Given the description of an element on the screen output the (x, y) to click on. 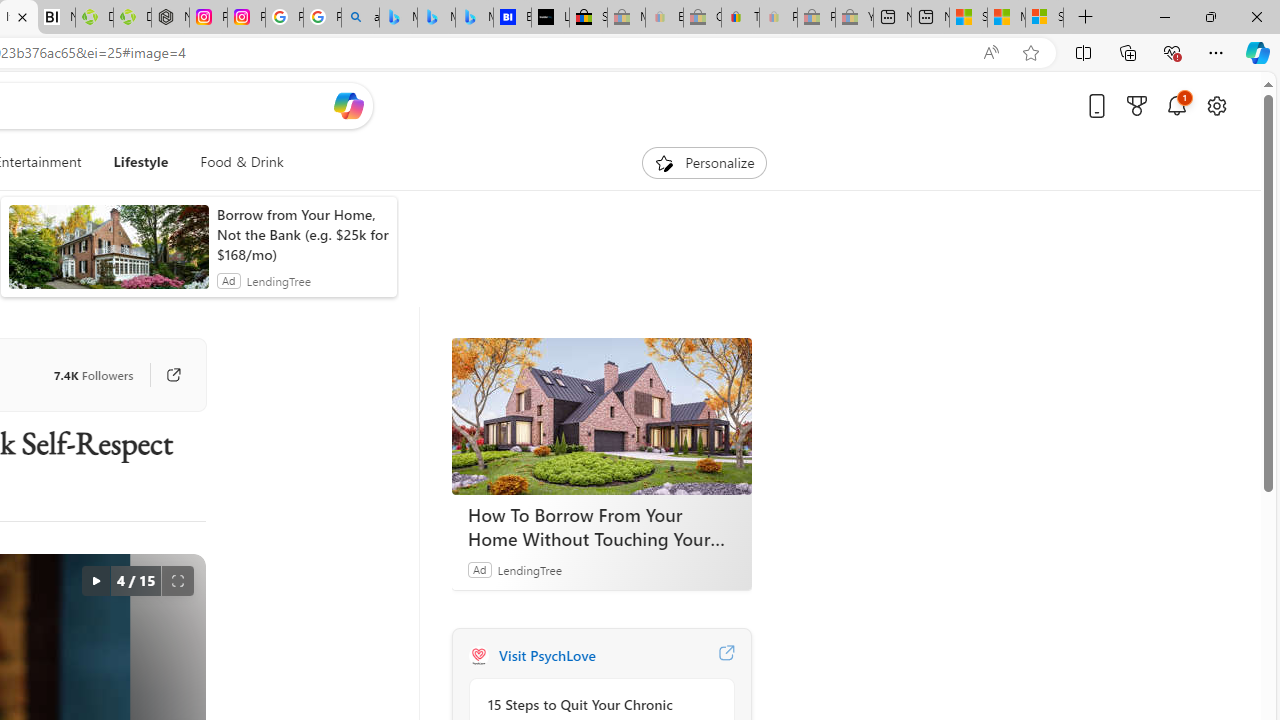
anim-content (107, 255)
Threats and offensive language policy | eBay (740, 17)
Descarga Driver Updater (132, 17)
Borrow from Your Home, Not the Bank (e.g. $25k for $168/mo) (302, 234)
Microsoft Bing Travel - Shangri-La Hotel Bangkok (473, 17)
